Given the description of an element on the screen output the (x, y) to click on. 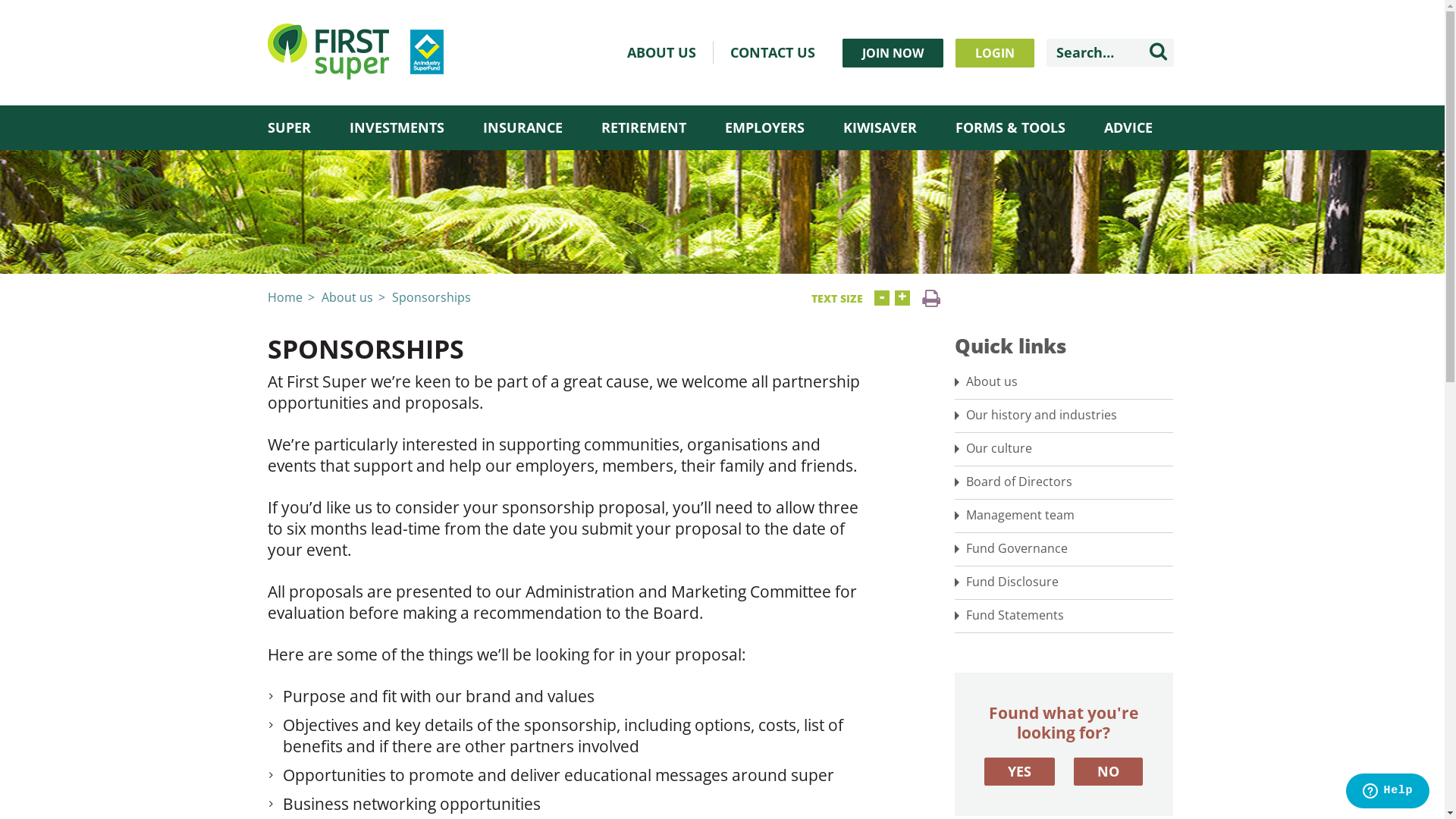
Our history and industries Element type: text (1062, 415)
+ Element type: text (902, 297)
Fund Statements Element type: text (1062, 615)
Fund Disclosure Element type: text (1062, 582)
INSURANCE Element type: text (521, 127)
RETIREMENT Element type: text (642, 127)
Fund Governance Element type: text (1062, 549)
INVESTMENTS Element type: text (395, 127)
ABOUT US Element type: text (660, 52)
About us Element type: text (1062, 382)
Board of Directors Element type: text (1062, 482)
LOGIN Element type: text (994, 52)
Opens a widget where you can chat to one of our agents Element type: hover (1387, 792)
CONTACT US Element type: text (771, 52)
FORMS & TOOLS Element type: text (1010, 127)
Management team Element type: text (1062, 515)
SUPER Element type: text (288, 127)
Our culture Element type: text (1062, 449)
About us Element type: text (347, 296)
ADVICE Element type: text (1128, 127)
EMPLOYERS Element type: text (764, 127)
KIWISAVER Element type: text (879, 127)
Home Element type: text (283, 296)
JOIN NOW Element type: text (891, 52)
- Element type: text (880, 297)
